Given the description of an element on the screen output the (x, y) to click on. 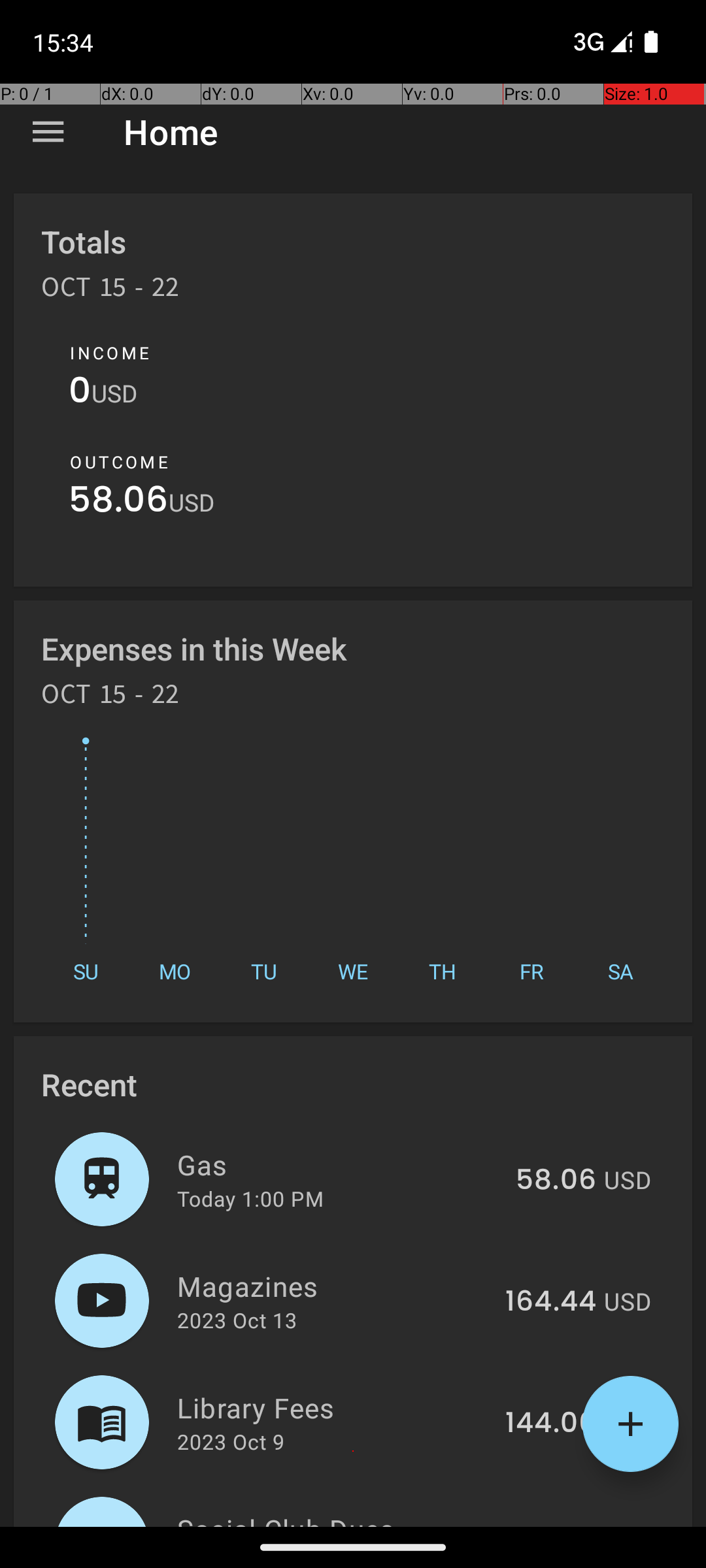
58.06 Element type: android.widget.TextView (118, 502)
Gas Element type: android.widget.TextView (338, 1164)
Today 1:00 PM Element type: android.widget.TextView (250, 1198)
Magazines Element type: android.widget.TextView (333, 1285)
164.44 Element type: android.widget.TextView (550, 1301)
Library Fees Element type: android.widget.TextView (333, 1407)
2023 Oct 9 Element type: android.widget.TextView (230, 1441)
144.06 Element type: android.widget.TextView (550, 1423)
Social Club Dues Element type: android.widget.TextView (342, 1518)
96.16 Element type: android.widget.TextView (559, 1524)
